Given the description of an element on the screen output the (x, y) to click on. 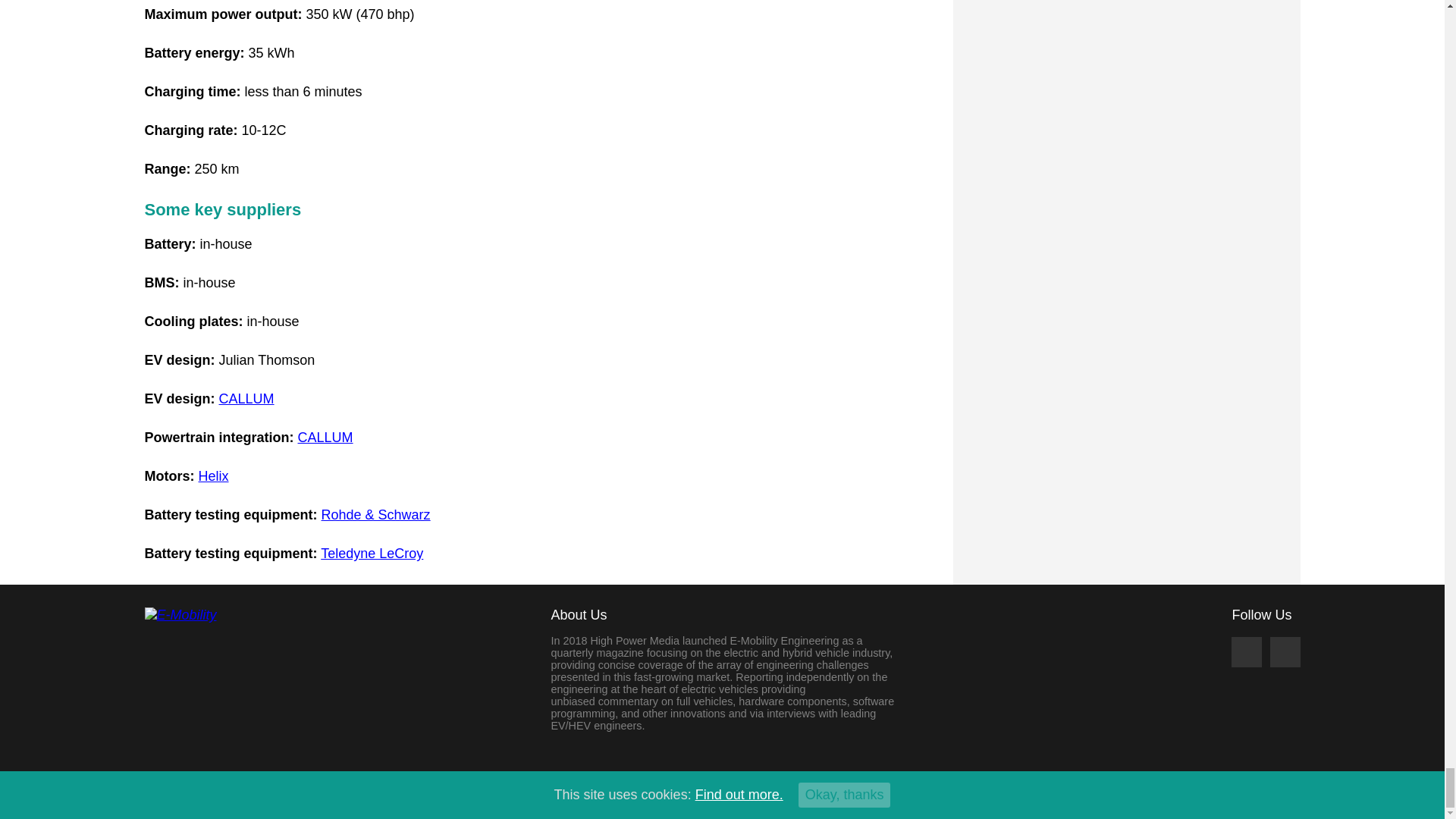
CALLUM (247, 398)
Helix (213, 476)
CALLUM (325, 437)
Teledyne LeCroy (371, 553)
